Given the description of an element on the screen output the (x, y) to click on. 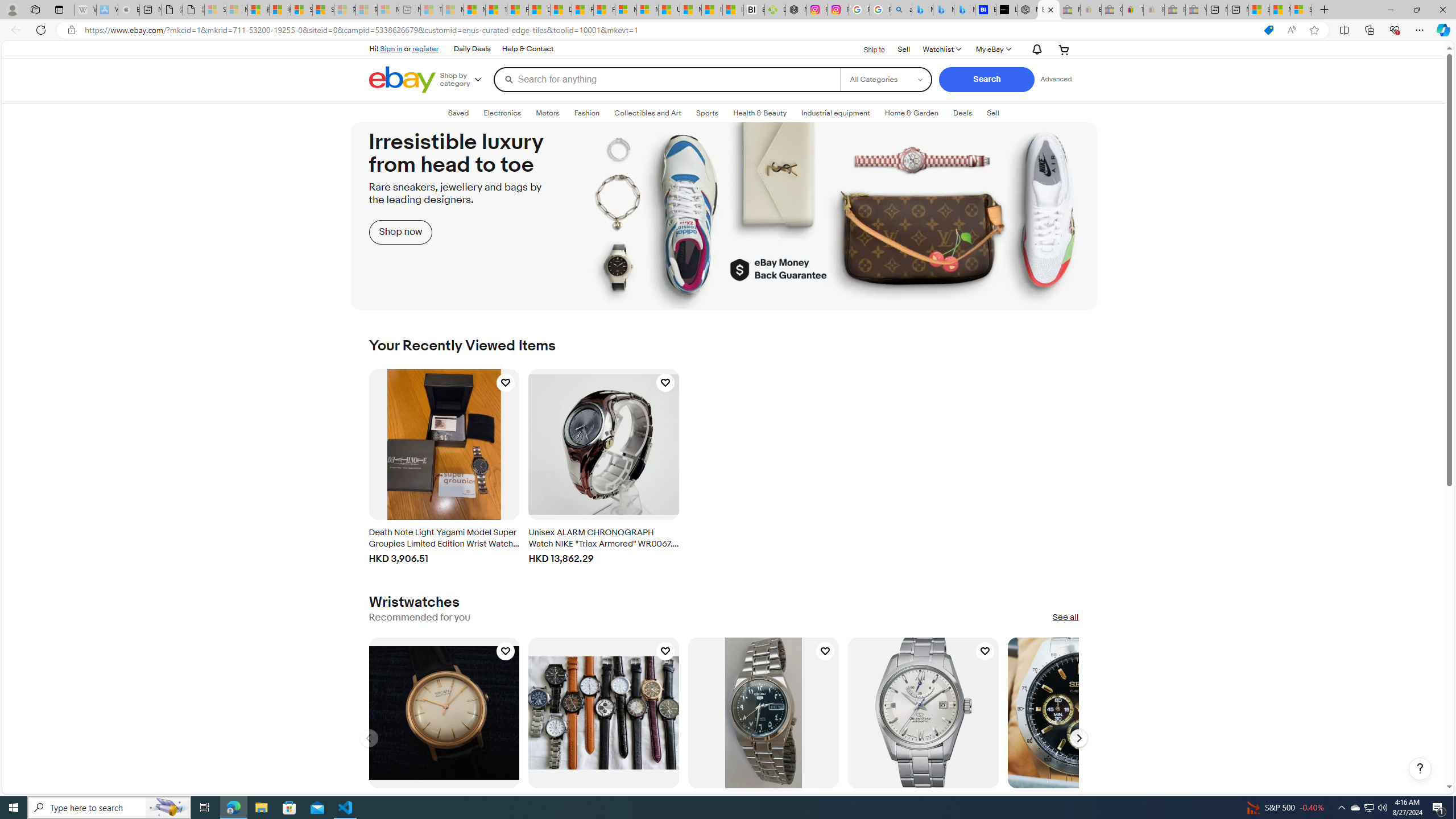
Daily Deals (471, 49)
MotorsExpand: Motors (547, 112)
Drinking tea every day is proven to delay biological aging (561, 9)
SellExpand: Sell (992, 112)
Collectibles and ArtExpand: Collectibles and Art (647, 112)
